Given the description of an element on the screen output the (x, y) to click on. 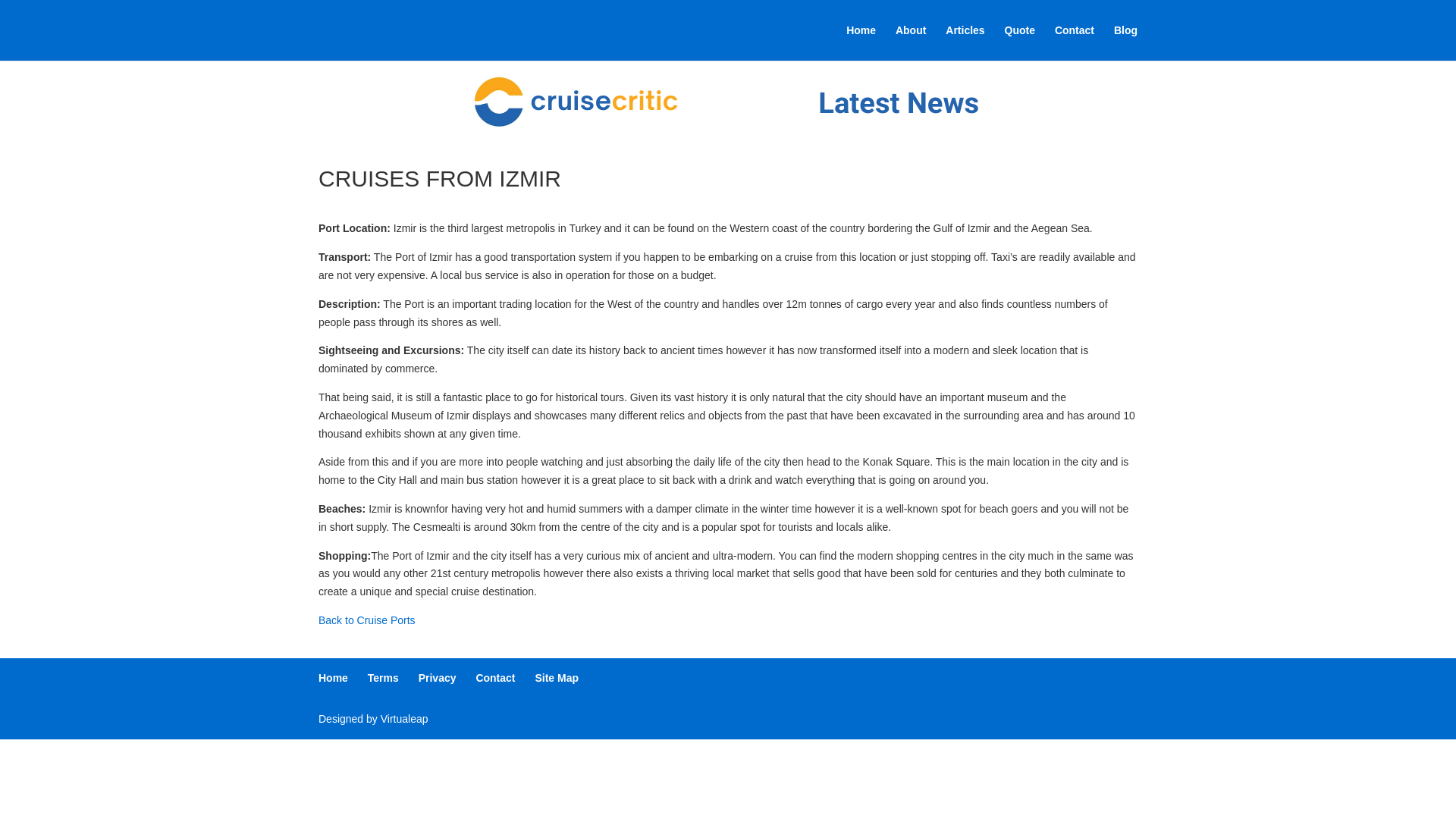
Contact (1074, 42)
Site Map (556, 677)
Articles (964, 42)
Virtualeap (404, 718)
Contact (495, 677)
Back to Cruise Ports (366, 620)
Home (332, 677)
Terms (383, 677)
Privacy (438, 677)
